Given the description of an element on the screen output the (x, y) to click on. 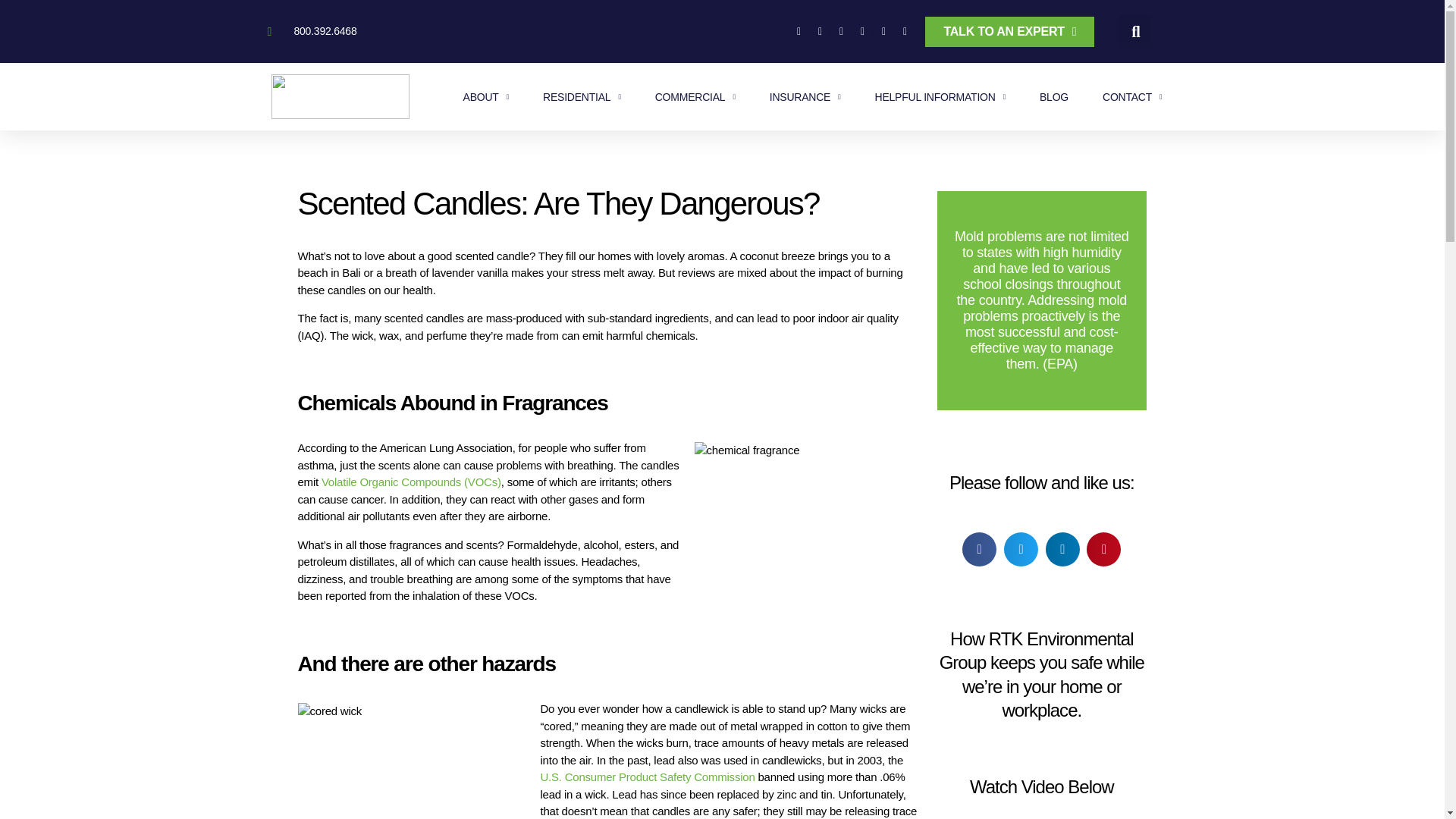
ABOUT (485, 96)
TALK TO AN EXPERT (1009, 31)
RESIDENTIAL (582, 96)
